Given the description of an element on the screen output the (x, y) to click on. 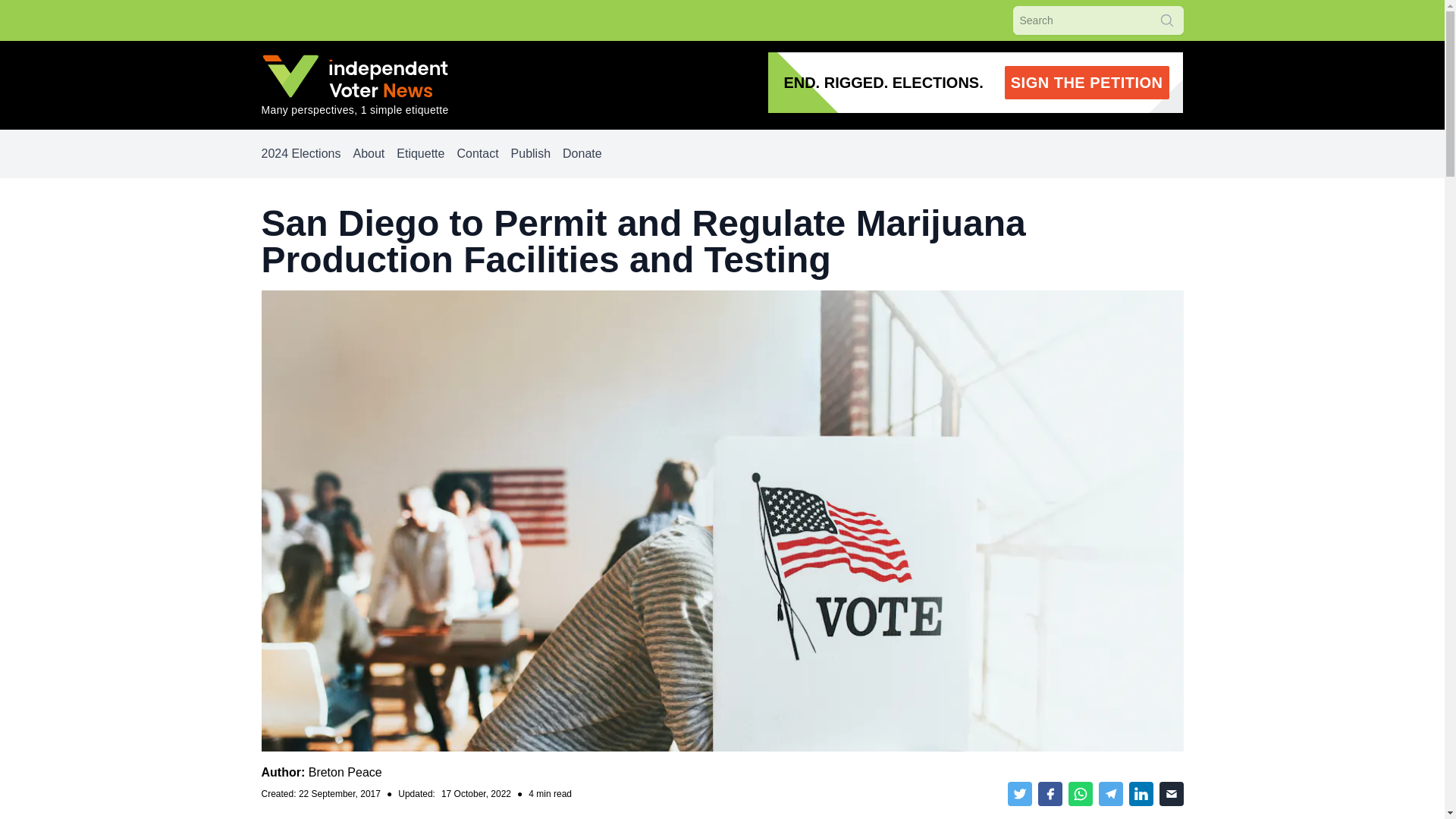
Contact (477, 153)
2024 Elections (300, 153)
Donate (582, 153)
Publish (975, 82)
Etiquette (530, 153)
Breton Peace (420, 153)
About (344, 771)
